Given the description of an element on the screen output the (x, y) to click on. 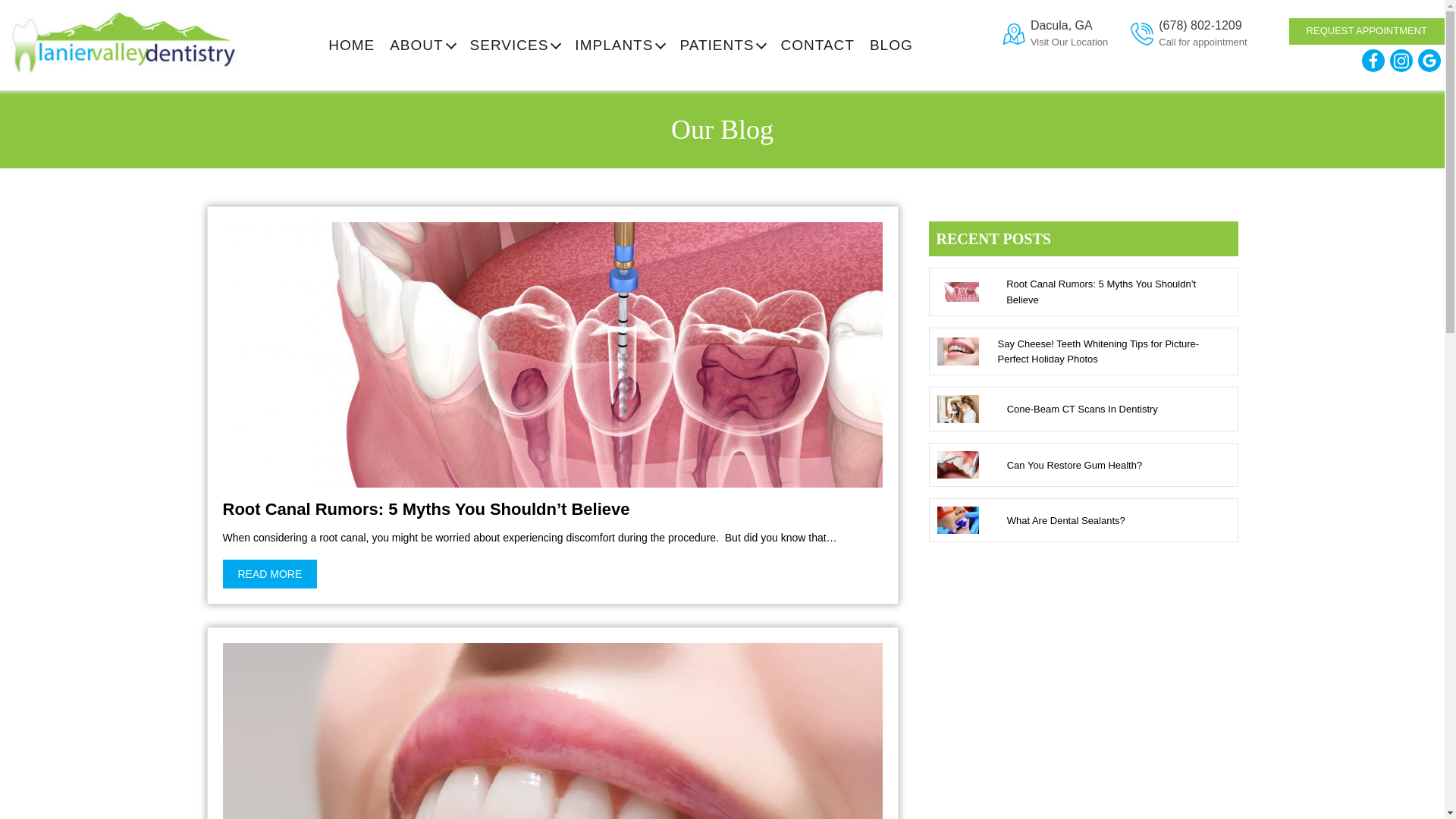
Facebook (1372, 60)
IMPLANTS (619, 45)
Instagram (1401, 60)
Dacula, GA  Call for appointment (1055, 33)
PATIENTS (722, 45)
Google (1429, 60)
SERVICES (515, 45)
